Given the description of an element on the screen output the (x, y) to click on. 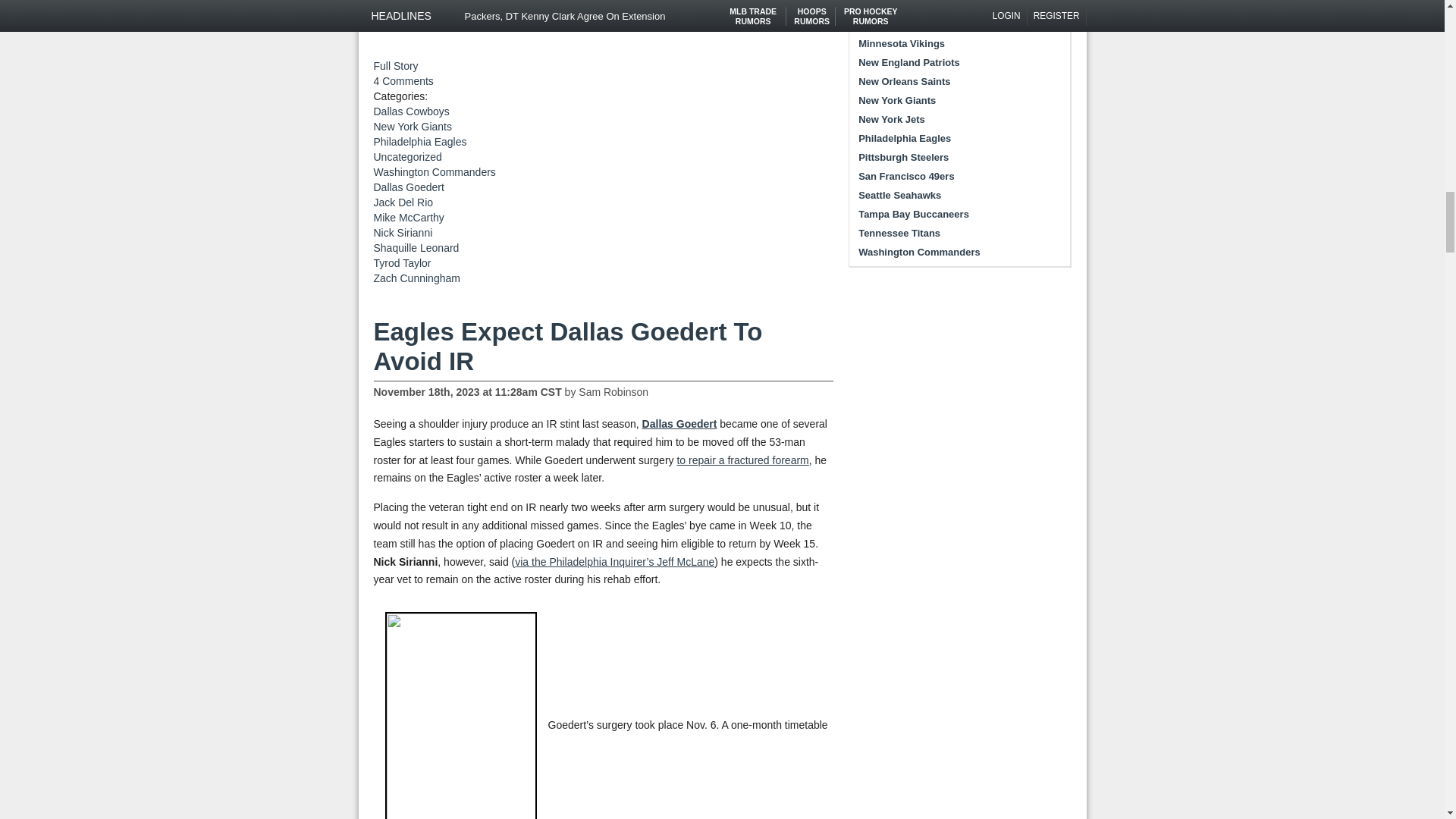
View all posts in Philadelphia Eagles (418, 141)
View all posts in Zach Cunningham (416, 277)
View all posts in Uncategorized (406, 156)
View all posts in Dallas Goedert (408, 186)
View all posts in Nick Sirianni (402, 232)
View all posts in New York Giants (411, 126)
View all posts in Jack Del Rio (402, 202)
View all posts in Tyrod Taylor (401, 263)
View all posts in Shaquille Leonard (415, 247)
View all posts in Dallas Cowboys (410, 111)
View all posts in Washington Commanders (433, 172)
View all posts in Mike McCarthy (408, 217)
